Given the description of an element on the screen output the (x, y) to click on. 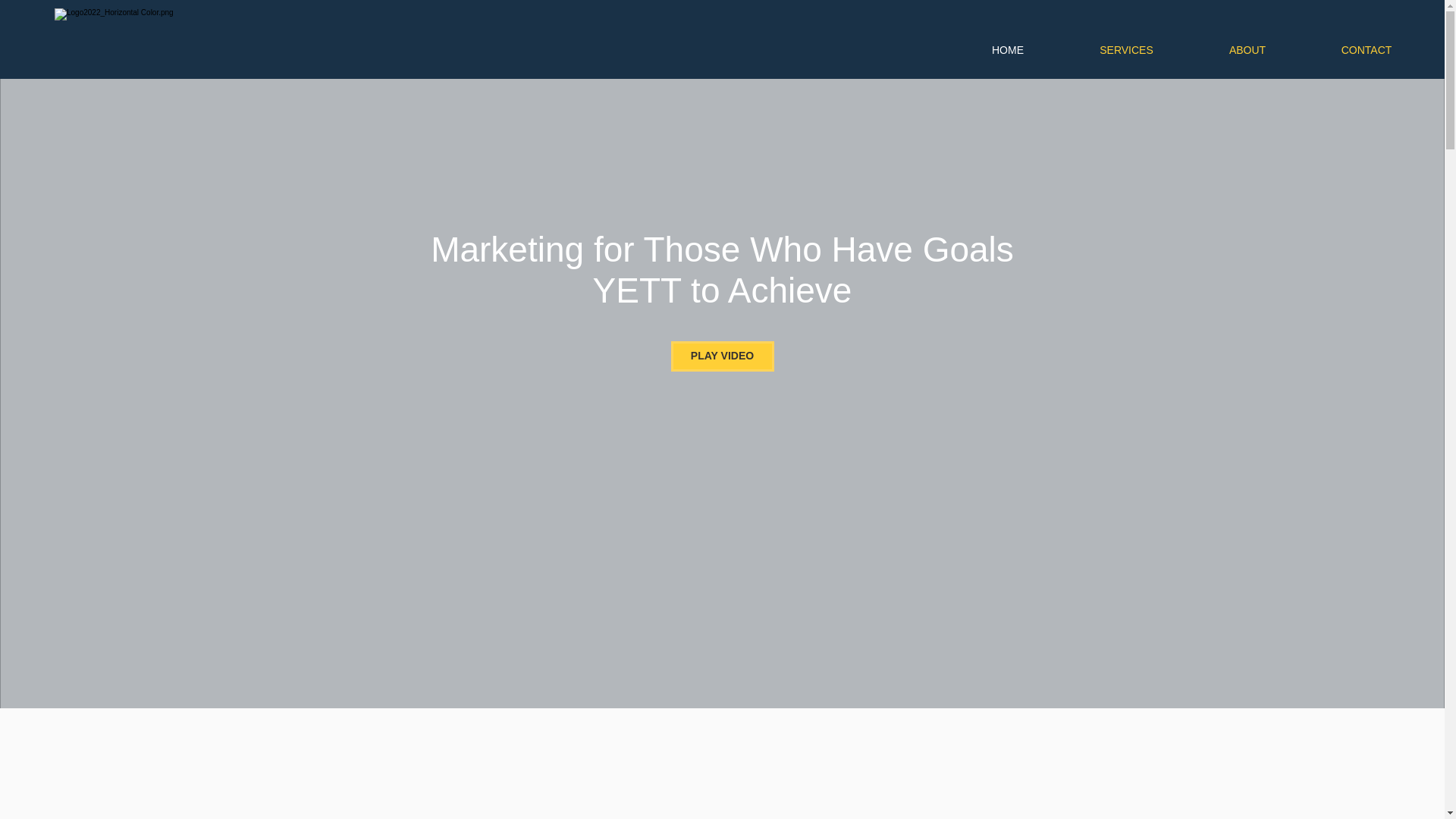
HOME (1007, 50)
SERVICES (1126, 50)
CONTACT (1366, 50)
ABOUT (1247, 50)
PLAY VIDEO (721, 356)
